Given the description of an element on the screen output the (x, y) to click on. 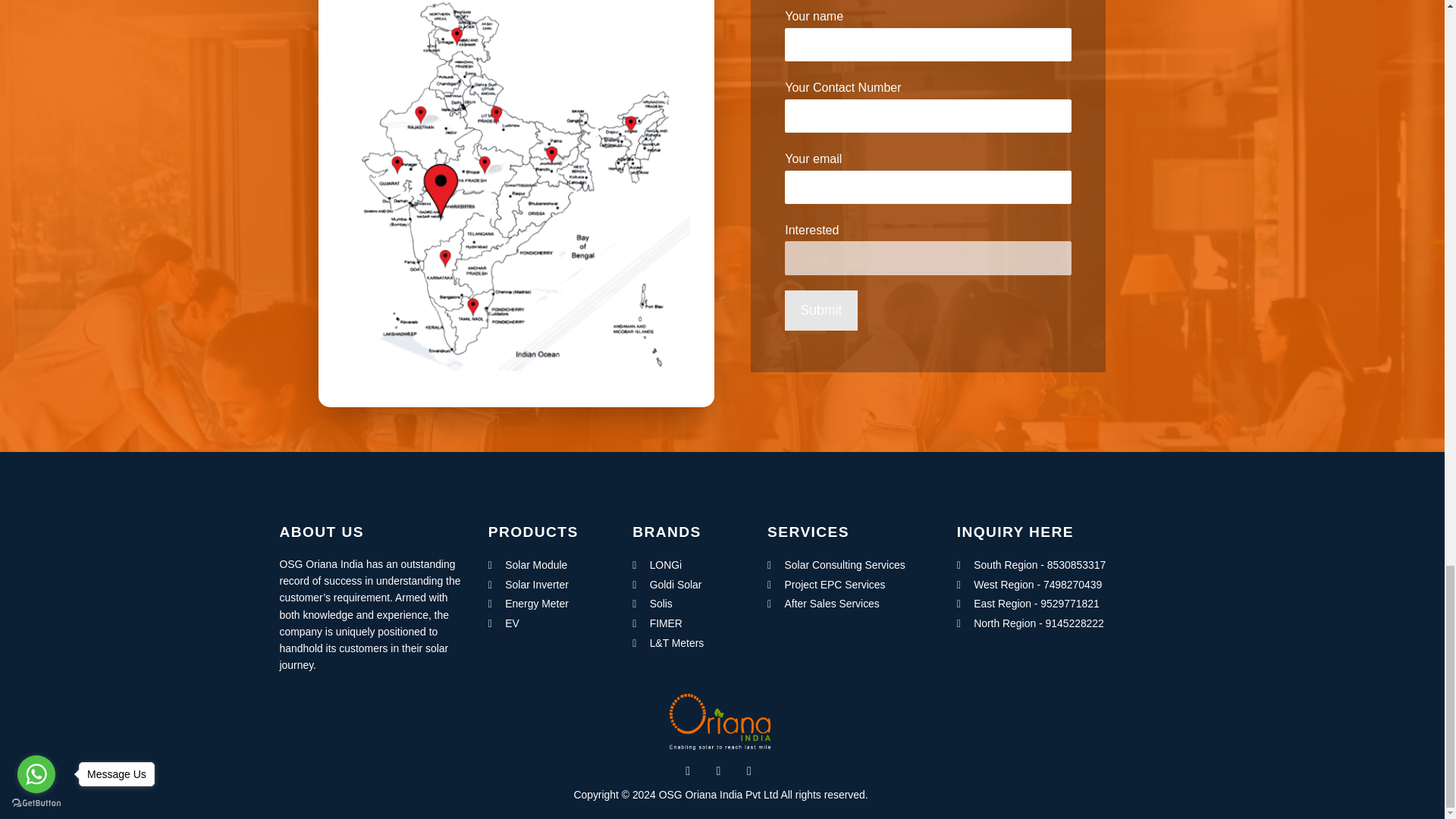
LONGi (686, 565)
FIMER (686, 623)
Energy Meter (547, 604)
Submit (820, 310)
Solis (686, 604)
Solar Inverter (547, 585)
Solar Module (547, 565)
Goldi Solar (686, 585)
Submit (820, 310)
EV (547, 623)
